Given the description of an element on the screen output the (x, y) to click on. 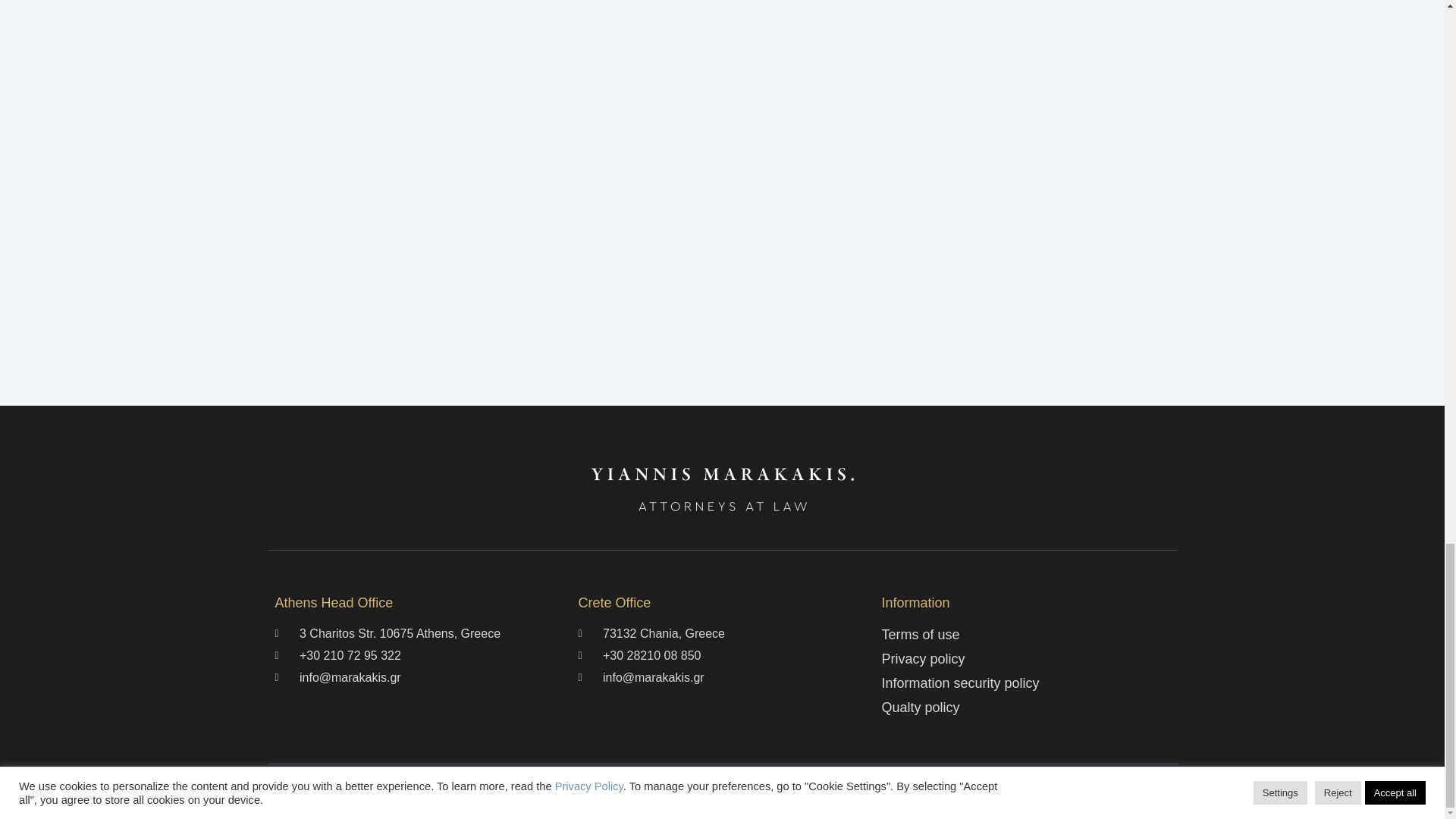
Qualty policy (1024, 707)
Privacy policy (1024, 659)
Information security policy (1024, 683)
3 Charitos Str. 10675 Athens, Greece (418, 633)
Terms of use (1024, 634)
Etherlogic P.C. (839, 791)
